Given the description of an element on the screen output the (x, y) to click on. 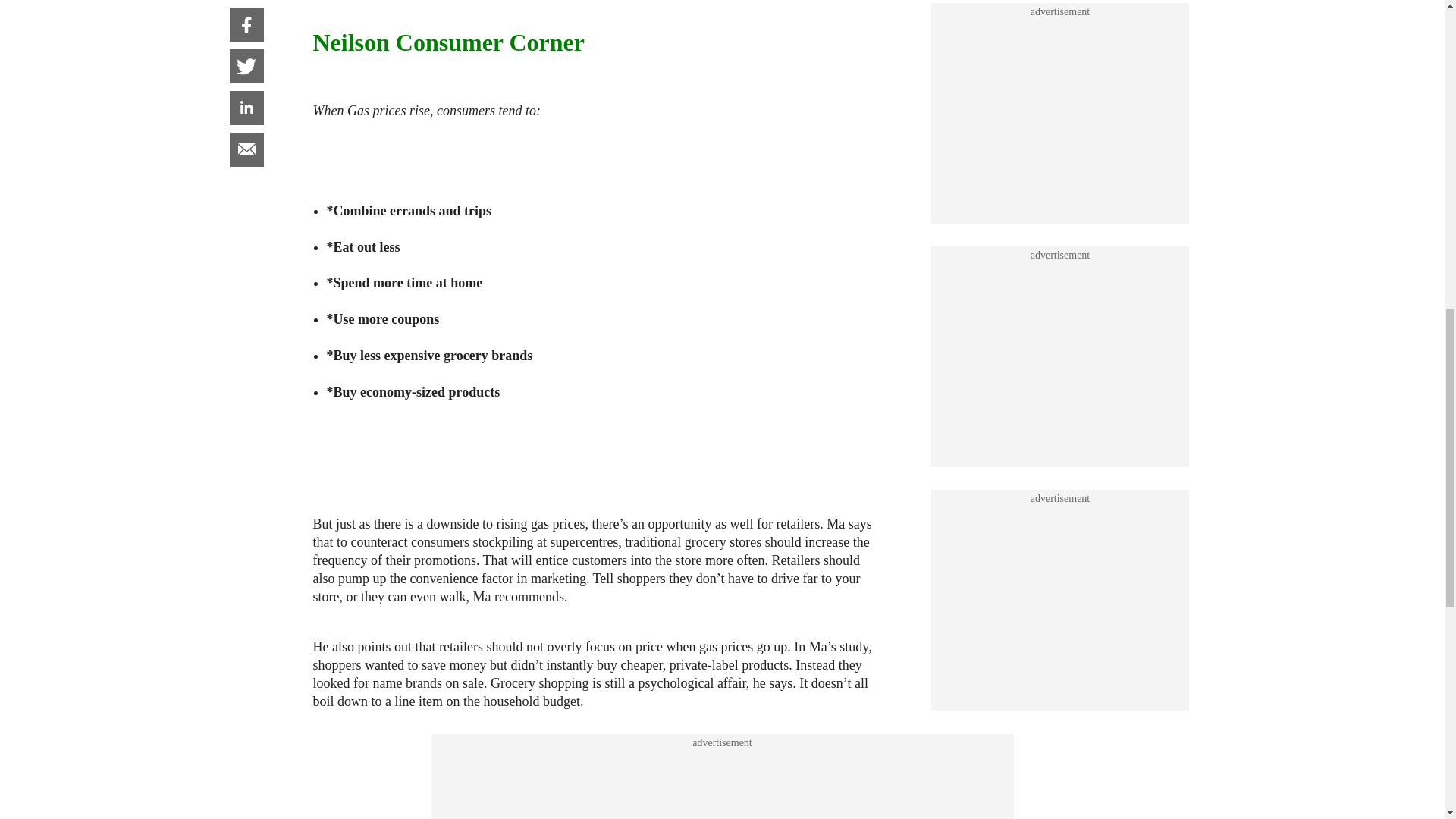
3rd party ad content (1059, 182)
3rd party ad content (721, 784)
3rd party ad content (1059, 17)
